Given the description of an element on the screen output the (x, y) to click on. 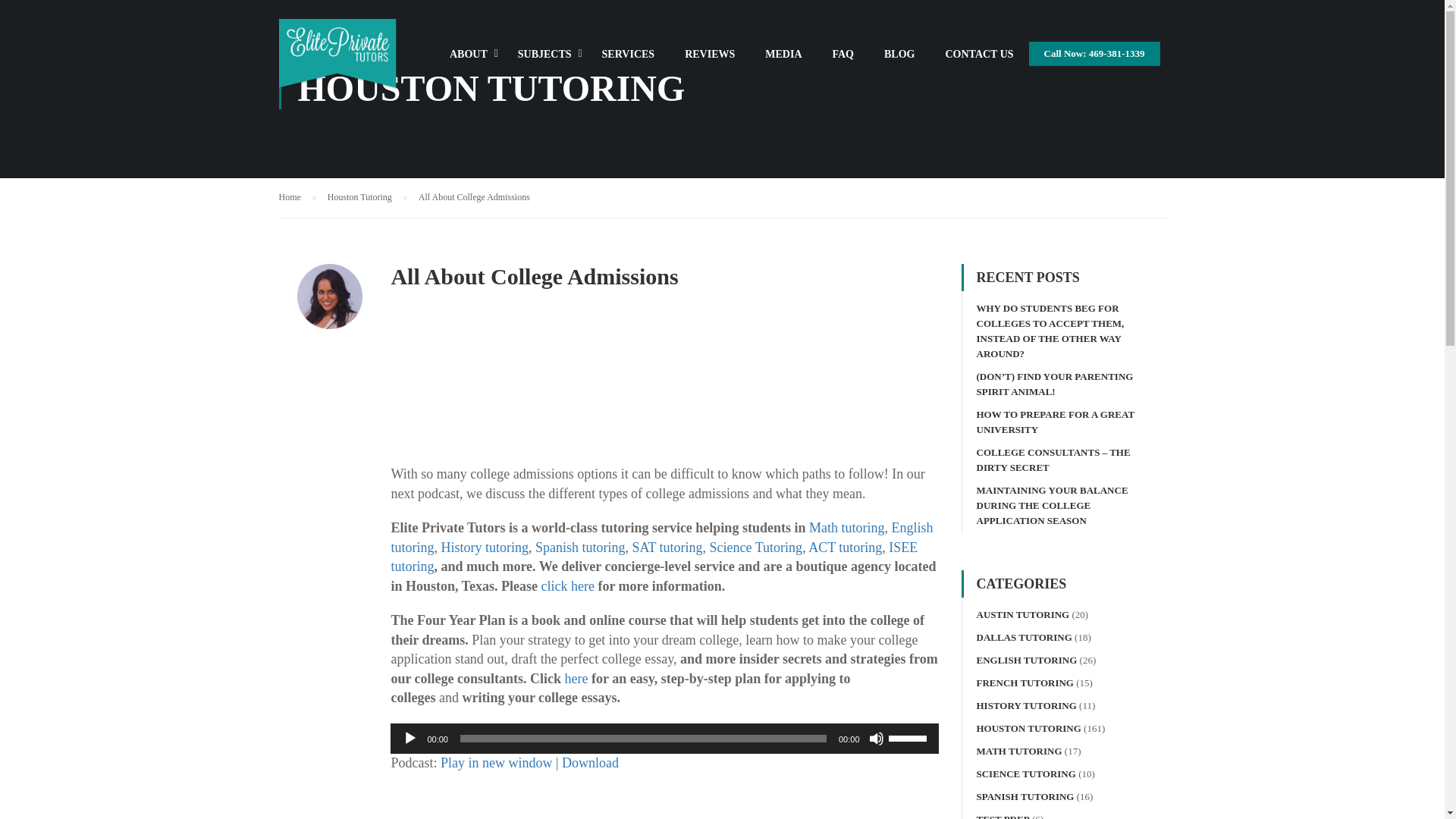
Home (297, 197)
REVIEWS (709, 61)
Play in new window (497, 762)
BLOG (899, 61)
SUBJECTS (544, 61)
Call Now: 469-381-1339 (1094, 53)
SERVICES (627, 61)
Download (590, 762)
Mute (876, 738)
